Given the description of an element on the screen output the (x, y) to click on. 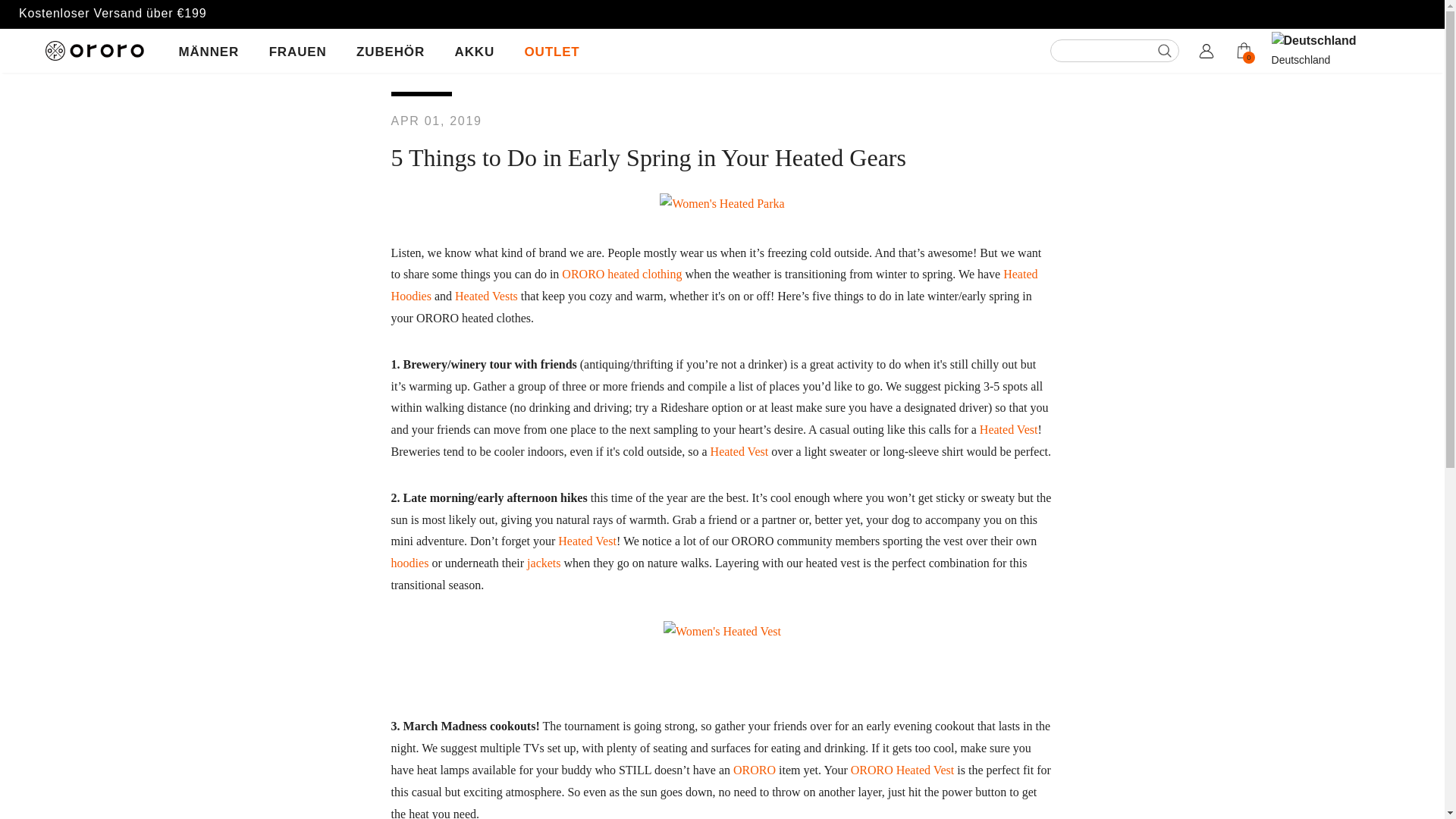
hoodies (410, 562)
Heated Hoodie (714, 284)
OUTLET (551, 52)
Heated Vests (486, 295)
Heated Vest (1008, 429)
Heated Vest (1008, 429)
Heated vest (902, 769)
FRAUEN (297, 52)
ORORO heated clothing (621, 273)
Logo (101, 50)
